Given the description of an element on the screen output the (x, y) to click on. 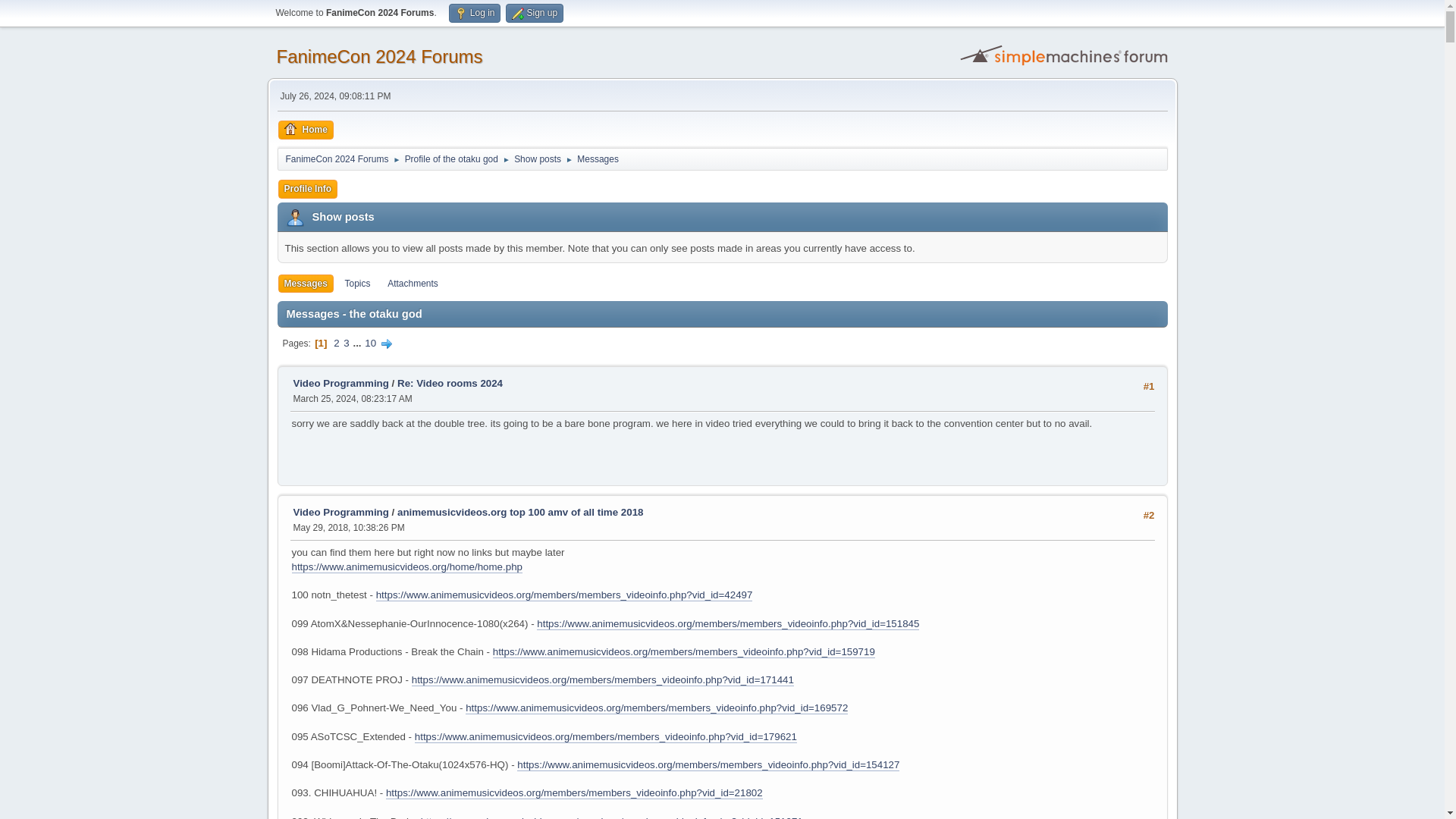
Messages (597, 156)
Home (305, 129)
FanimeCon 2024 Forums (336, 156)
Profile of the otaku god (450, 156)
Topics (356, 283)
animemusicvideos.org top 100 amv of all time 2018 (520, 511)
Messages (305, 283)
Video Programming (340, 511)
Profile Info (307, 189)
FanimeCon 2024 Forums (378, 55)
10 (370, 342)
Show posts (536, 156)
Sign up (534, 13)
2 (336, 342)
Video Programming (340, 383)
